Given the description of an element on the screen output the (x, y) to click on. 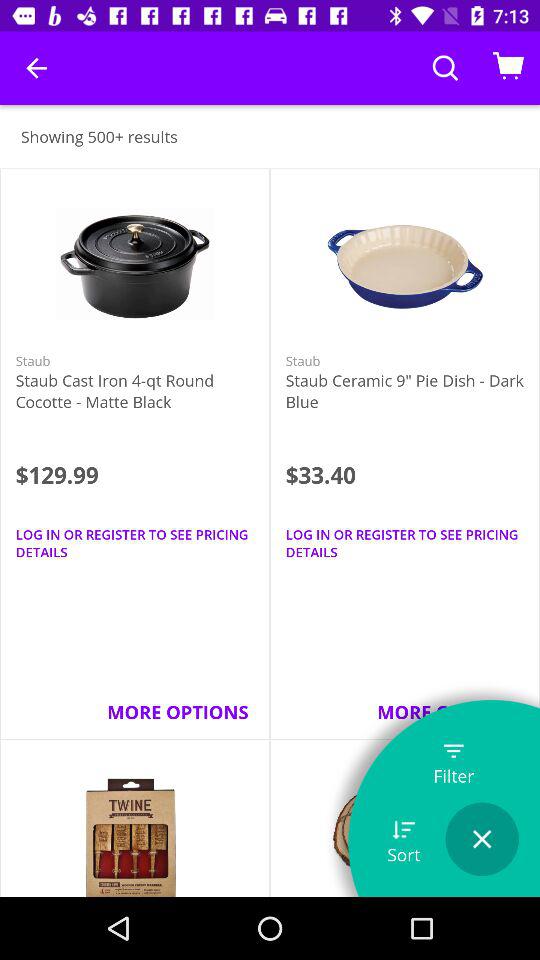
tap icon next to sort (482, 839)
